Given the description of an element on the screen output the (x, y) to click on. 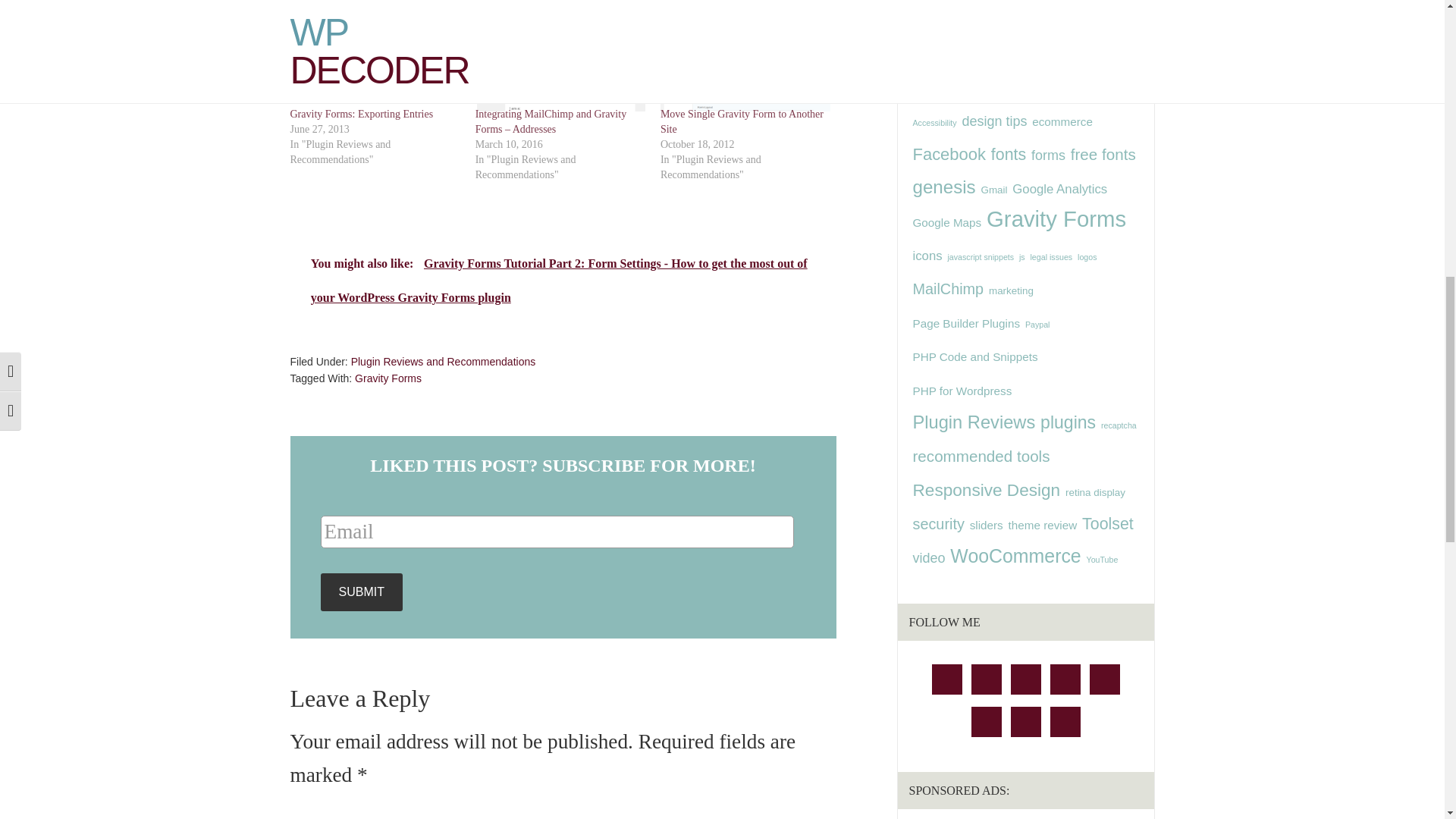
Gravity Forms (388, 378)
Move Single Gravity Form to Another Site (742, 121)
Gravity Forms: Exporting Entries (360, 113)
Submit (360, 591)
Submit (360, 591)
Plugin Reviews and Recommendations (442, 361)
